Given the description of an element on the screen output the (x, y) to click on. 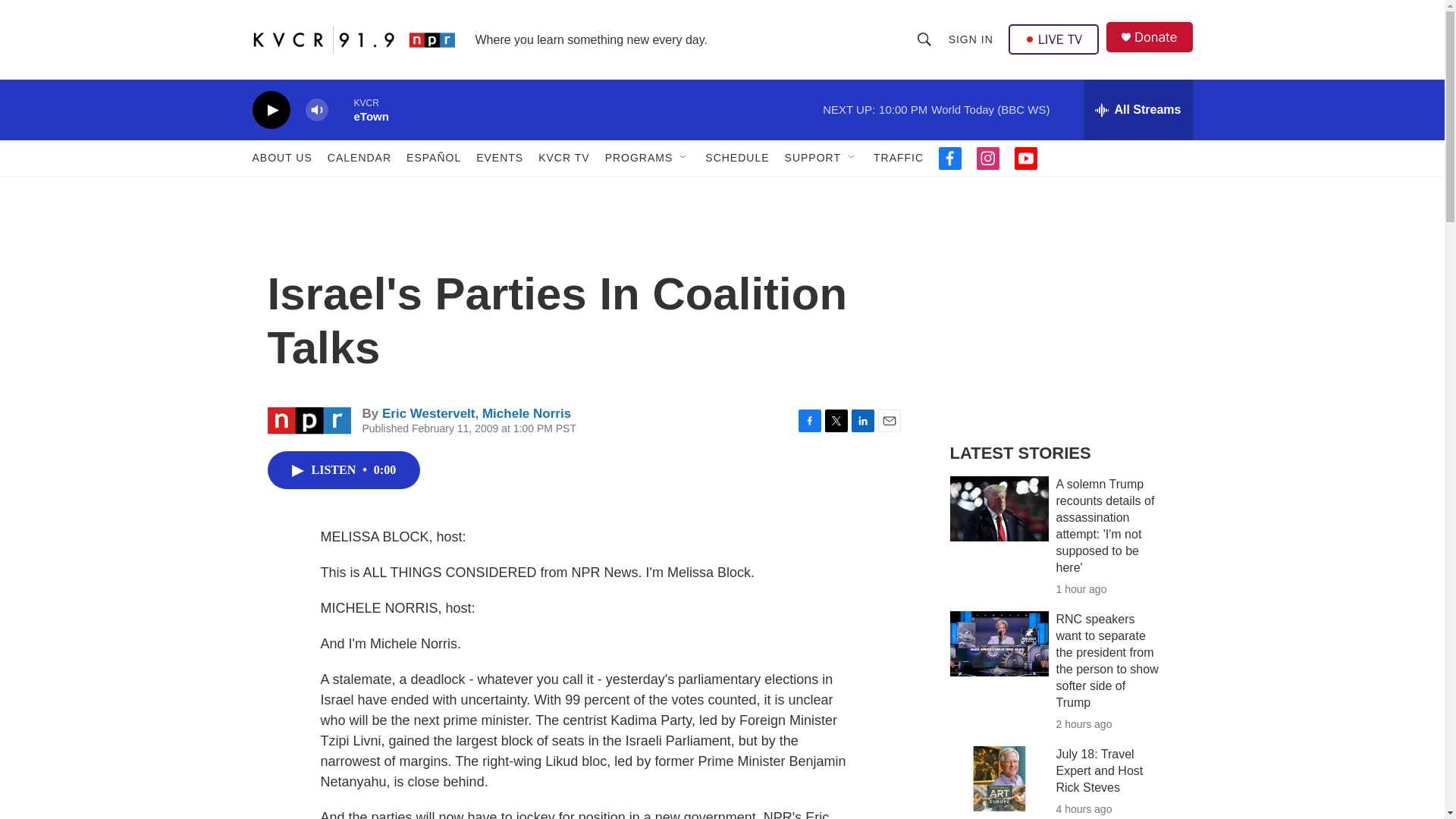
3rd party ad content (1062, 316)
